Given the description of an element on the screen output the (x, y) to click on. 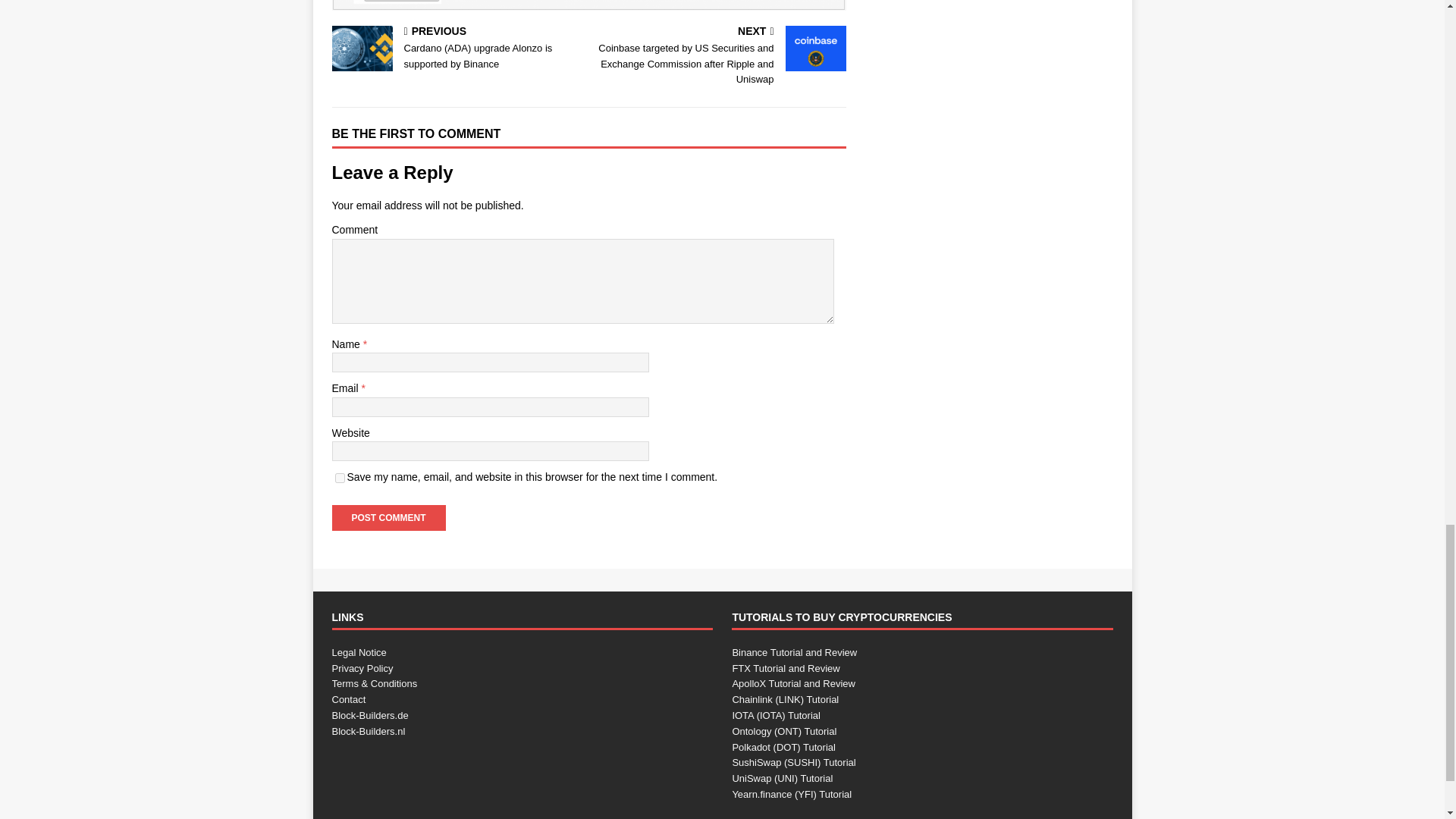
yes (339, 478)
Post Comment (388, 517)
